Given the description of an element on the screen output the (x, y) to click on. 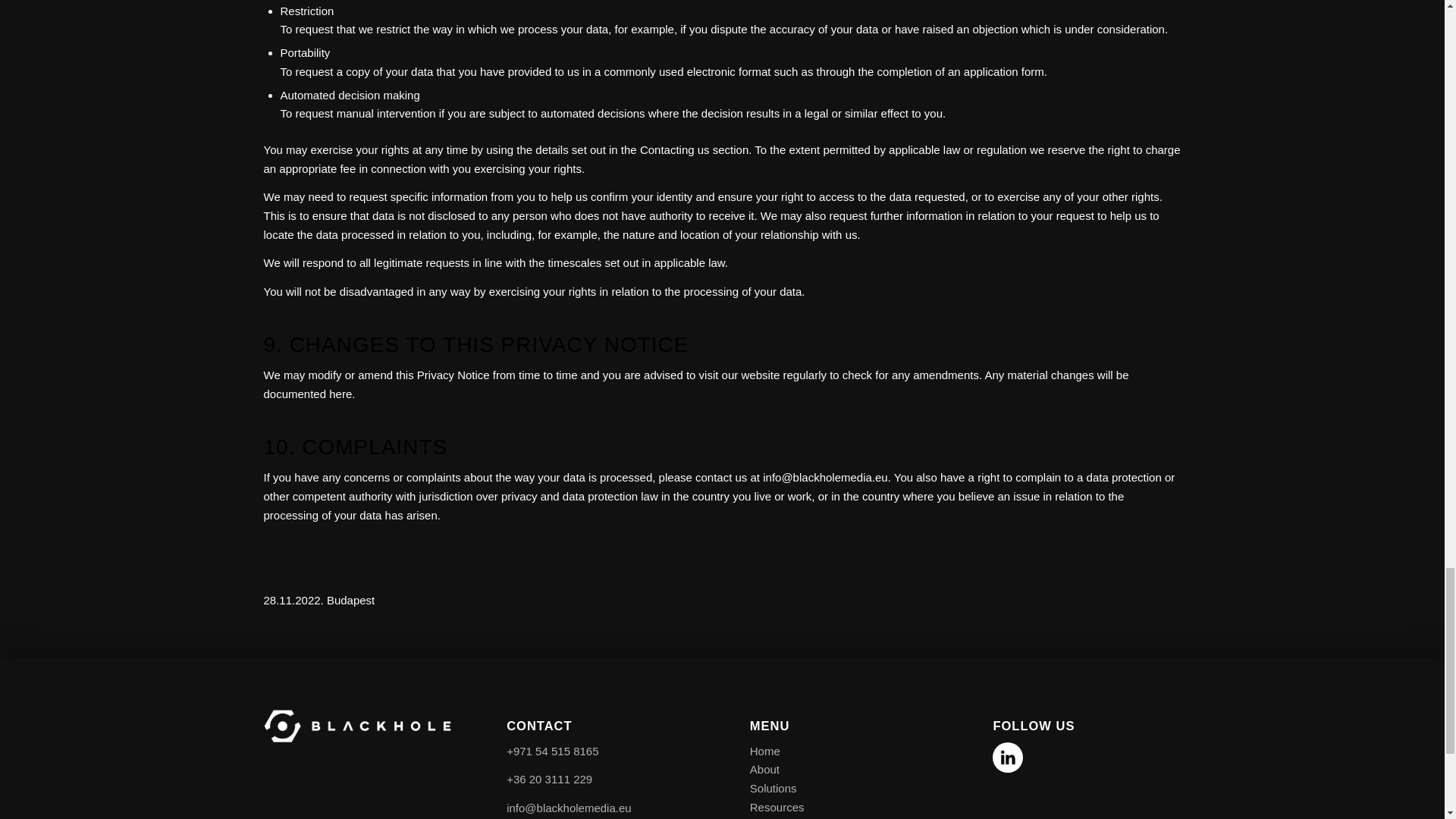
About (763, 768)
Home (764, 750)
Solutions (772, 788)
Resources (777, 807)
